Given the description of an element on the screen output the (x, y) to click on. 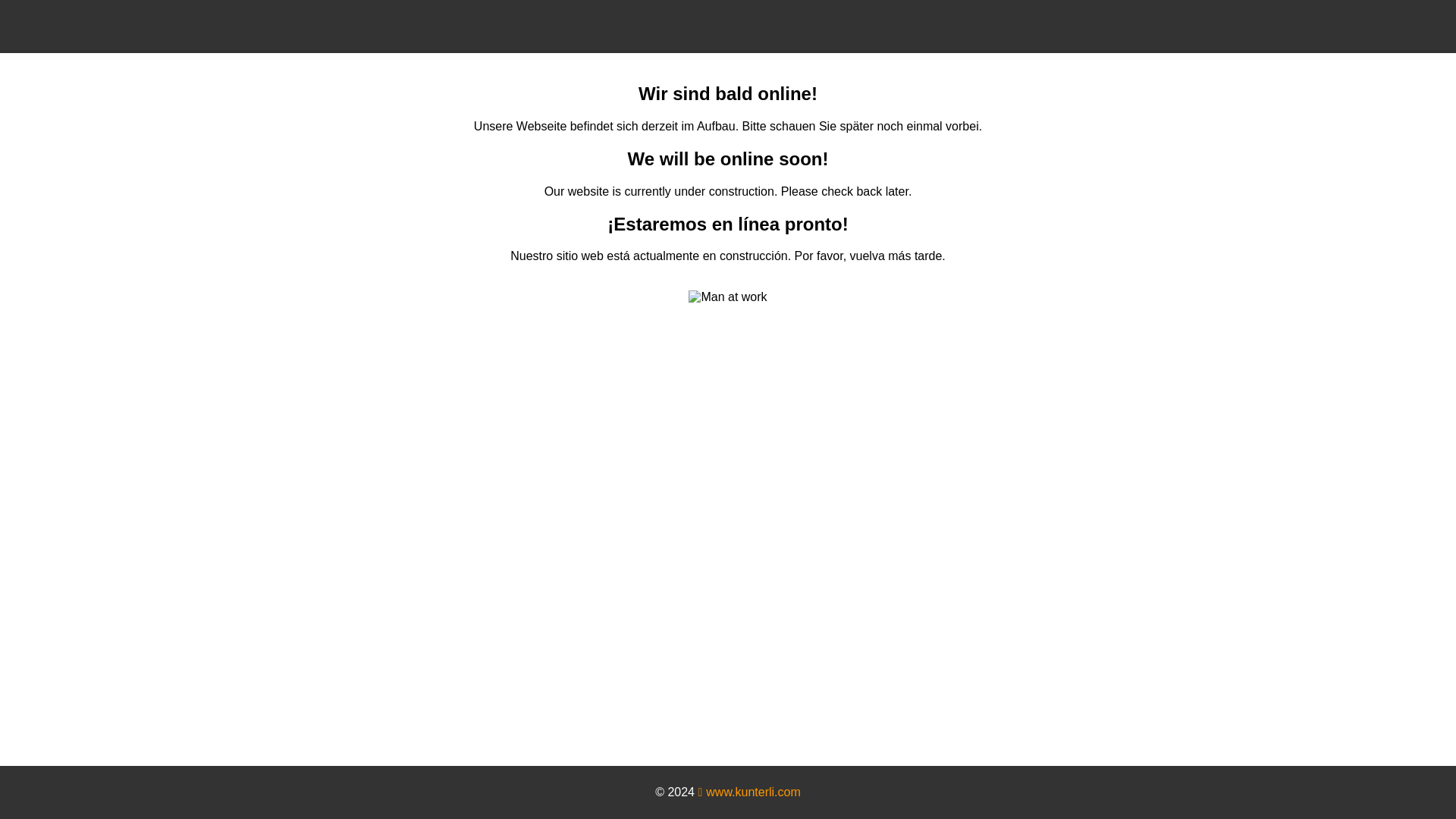
www.kunterli.com (748, 792)
